Given the description of an element on the screen output the (x, y) to click on. 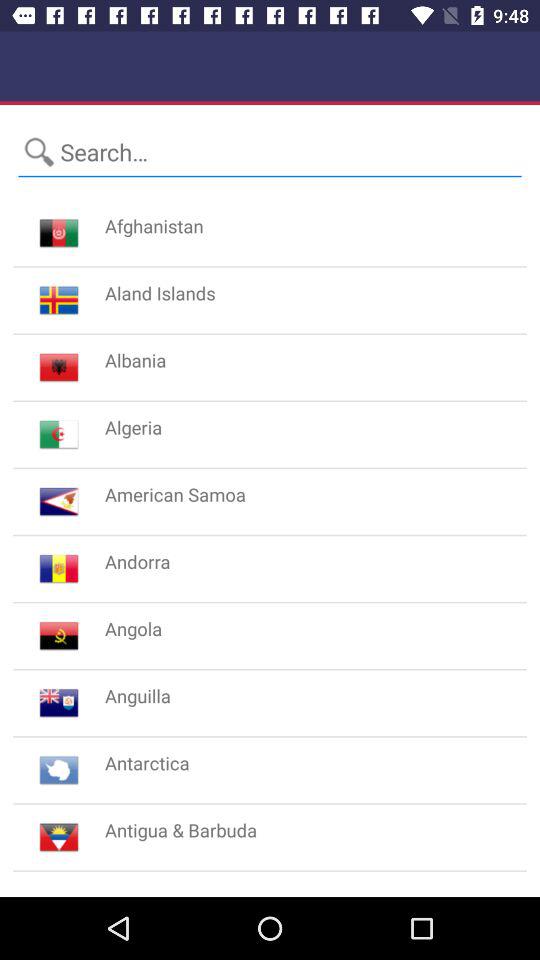
finds you what you browse (269, 152)
